Given the description of an element on the screen output the (x, y) to click on. 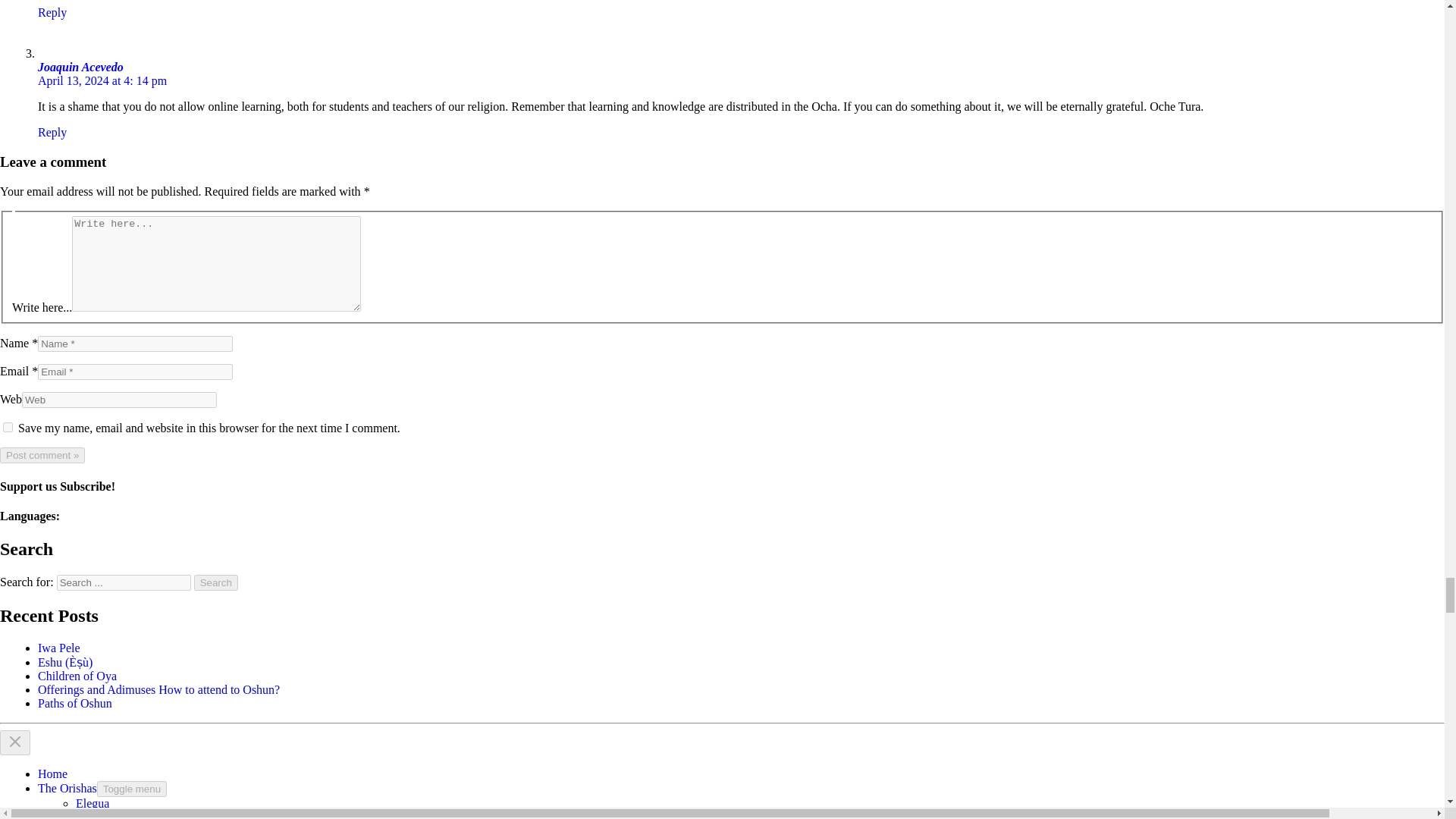
Search (215, 582)
Search (215, 582)
yes (7, 427)
